Given the description of an element on the screen output the (x, y) to click on. 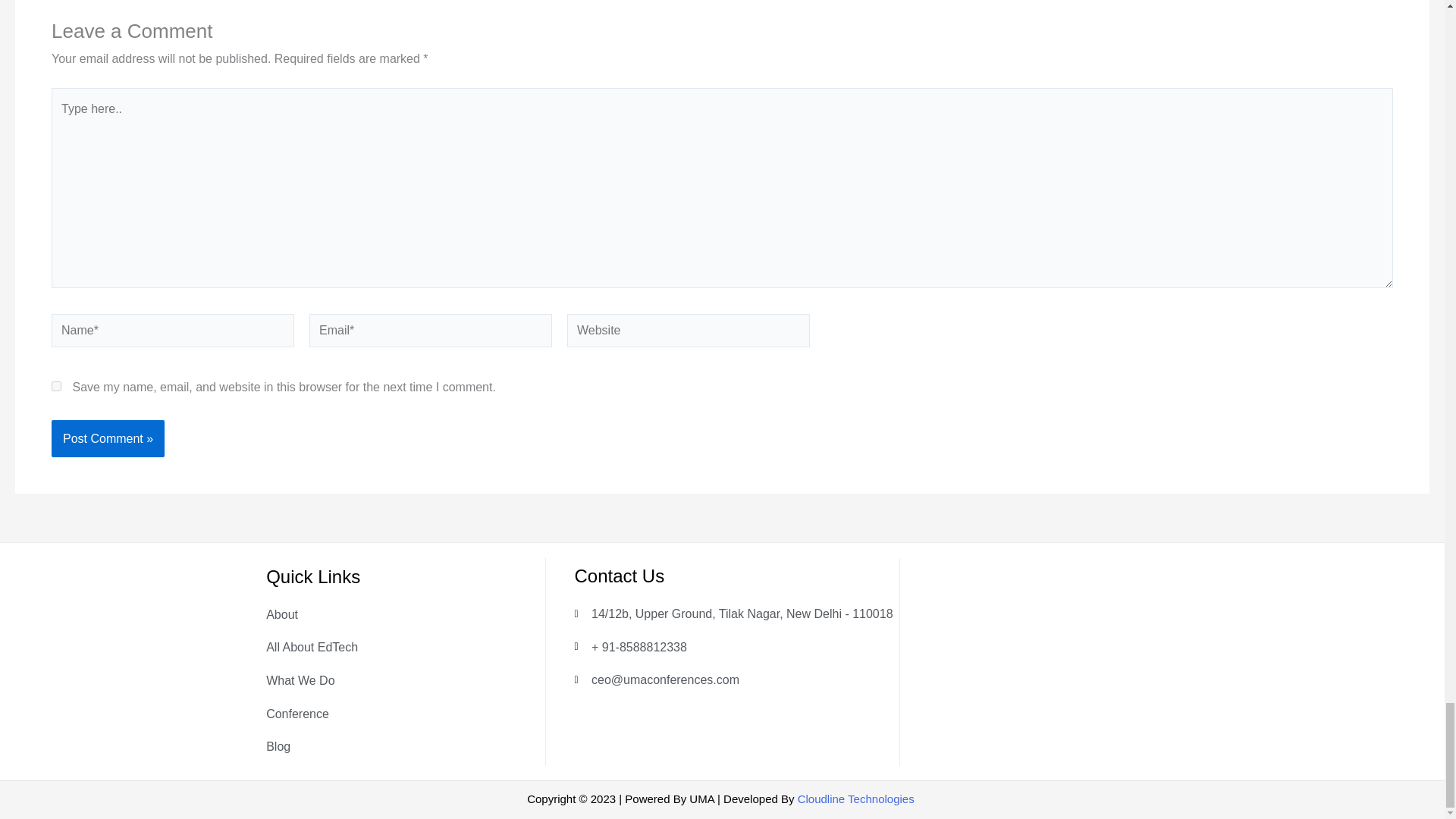
yes (55, 386)
